Given the description of an element on the screen output the (x, y) to click on. 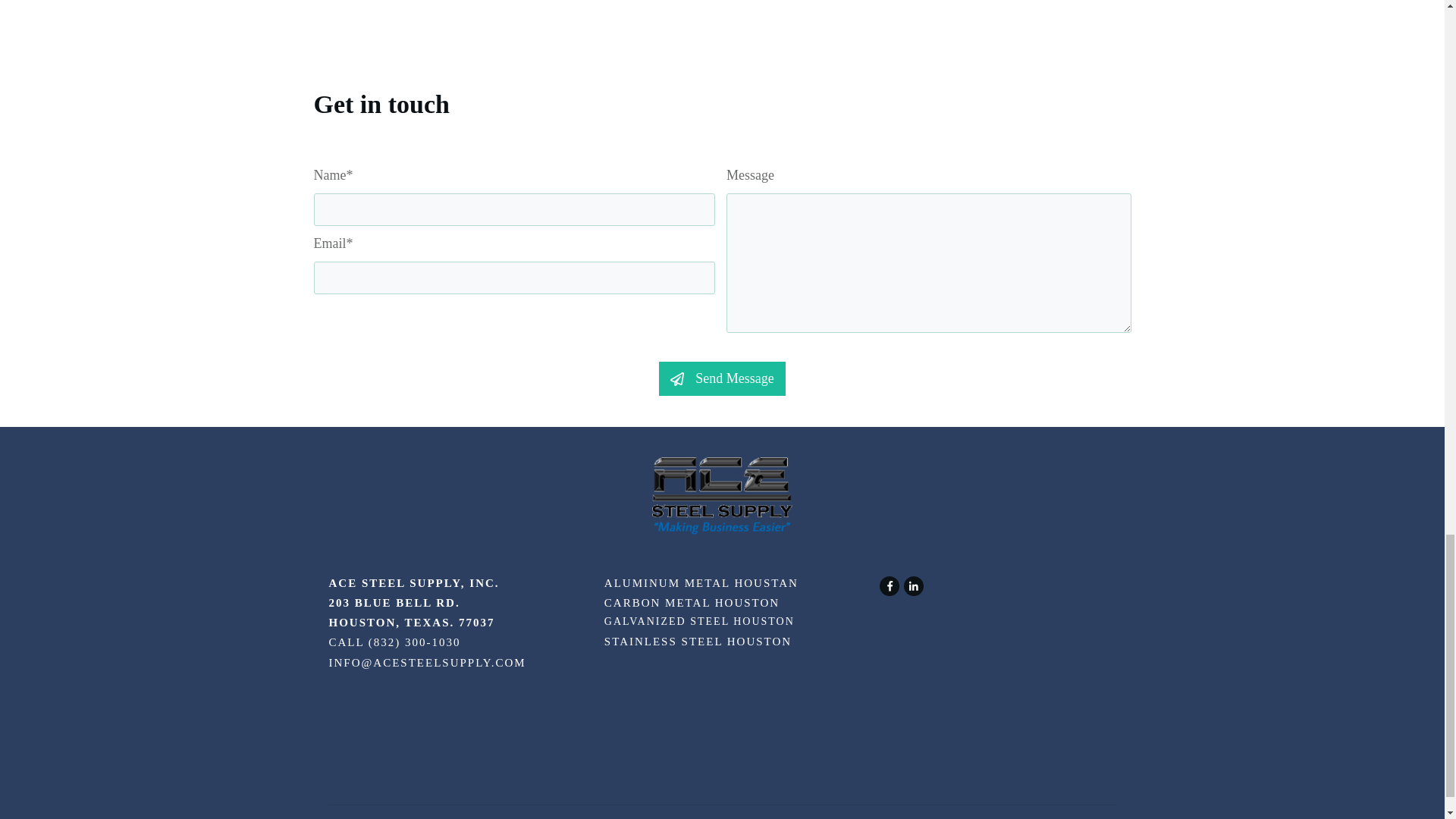
ALUMINUM METAL HOUSTAN (700, 582)
Google Map (992, 694)
STAINLESS STEEL HOUSTON (698, 641)
CARBON METAL HOUSTON (691, 603)
Send Message (721, 378)
April 2021 Newsletter (918, 4)
GALVANIZED STEEL HOUSTON (699, 621)
May 2021 Newsletter (554, 4)
